Given the description of an element on the screen output the (x, y) to click on. 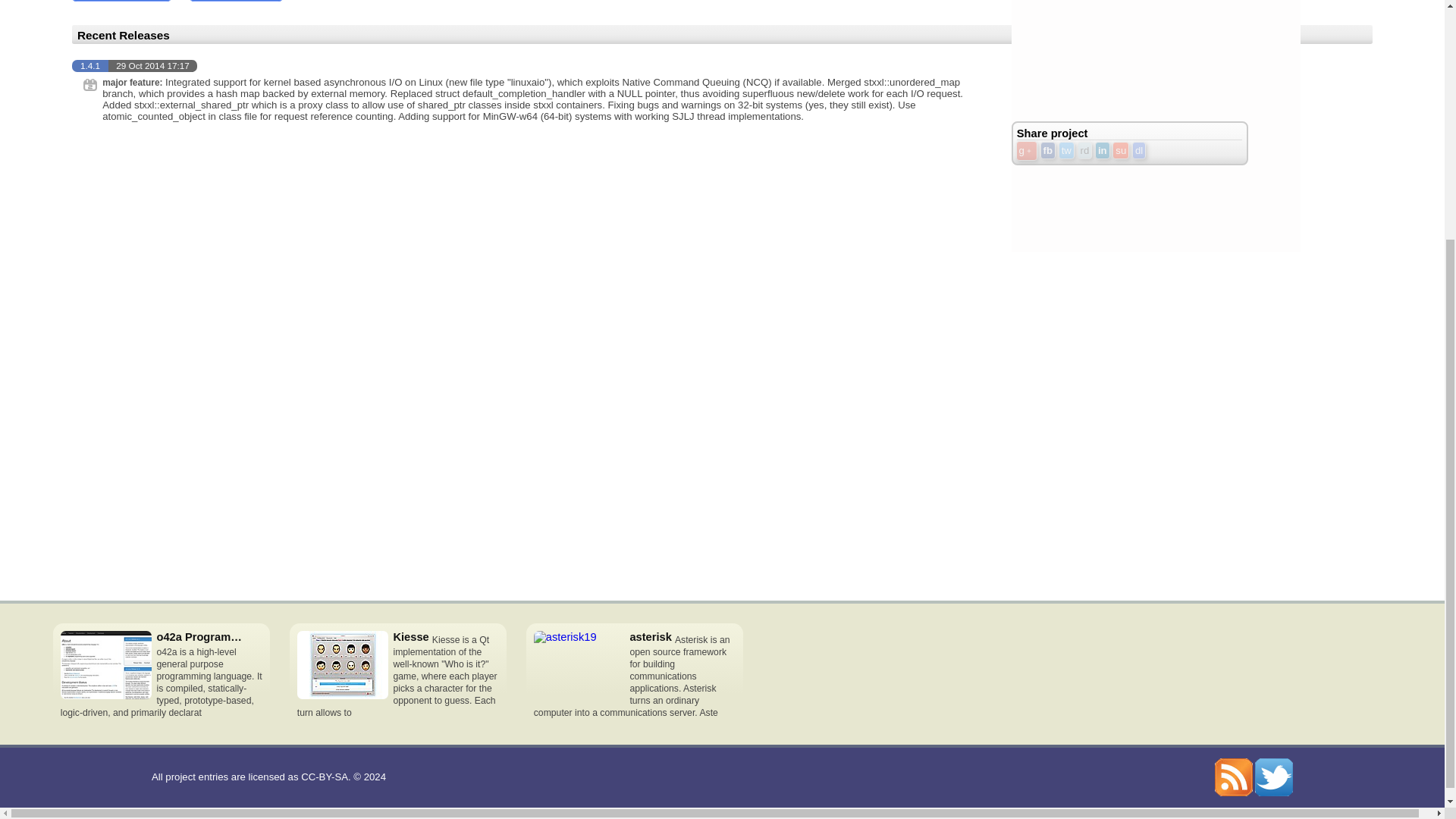
Advertisement (1125, 53)
twitter (1066, 149)
RSS Feed (1233, 777)
Homepage (120, 0)
su (1120, 149)
Download (235, 0)
tw (1066, 149)
stumbleupon (1120, 149)
Twitter Feed (1273, 777)
